Given the description of an element on the screen output the (x, y) to click on. 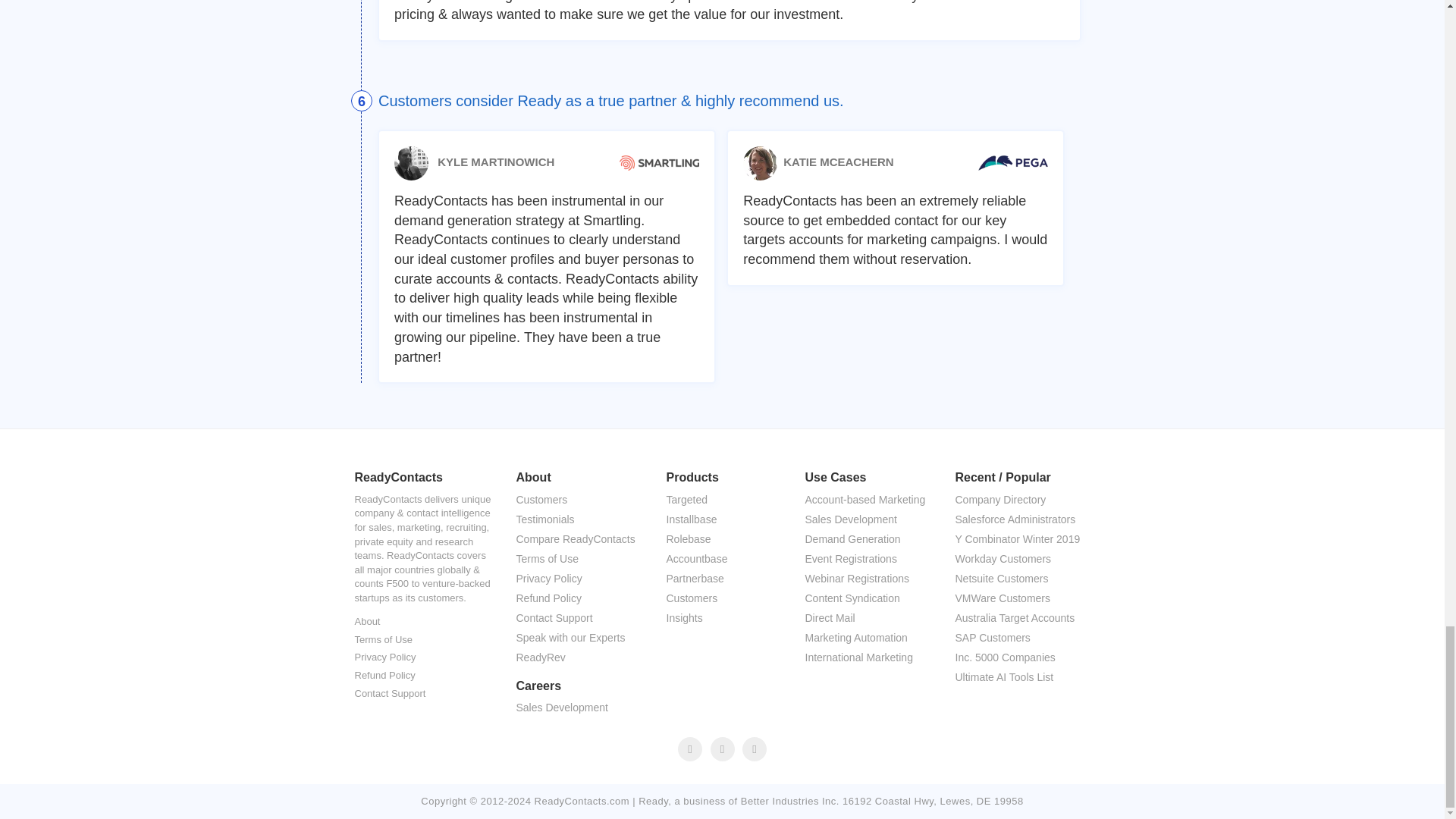
Terms of Use (384, 640)
Targeted (722, 500)
Privacy Policy (385, 657)
Refund Policy (577, 598)
About (368, 621)
Testimonials (577, 519)
Account-based Marketing (866, 500)
Contact Support (390, 693)
Privacy Policy (577, 578)
Insights (722, 618)
Partnerbase (722, 578)
Testimonials (577, 519)
Refund Policy (385, 675)
Compare ReadyContacts (577, 539)
Event Registrations (866, 559)
